Given the description of an element on the screen output the (x, y) to click on. 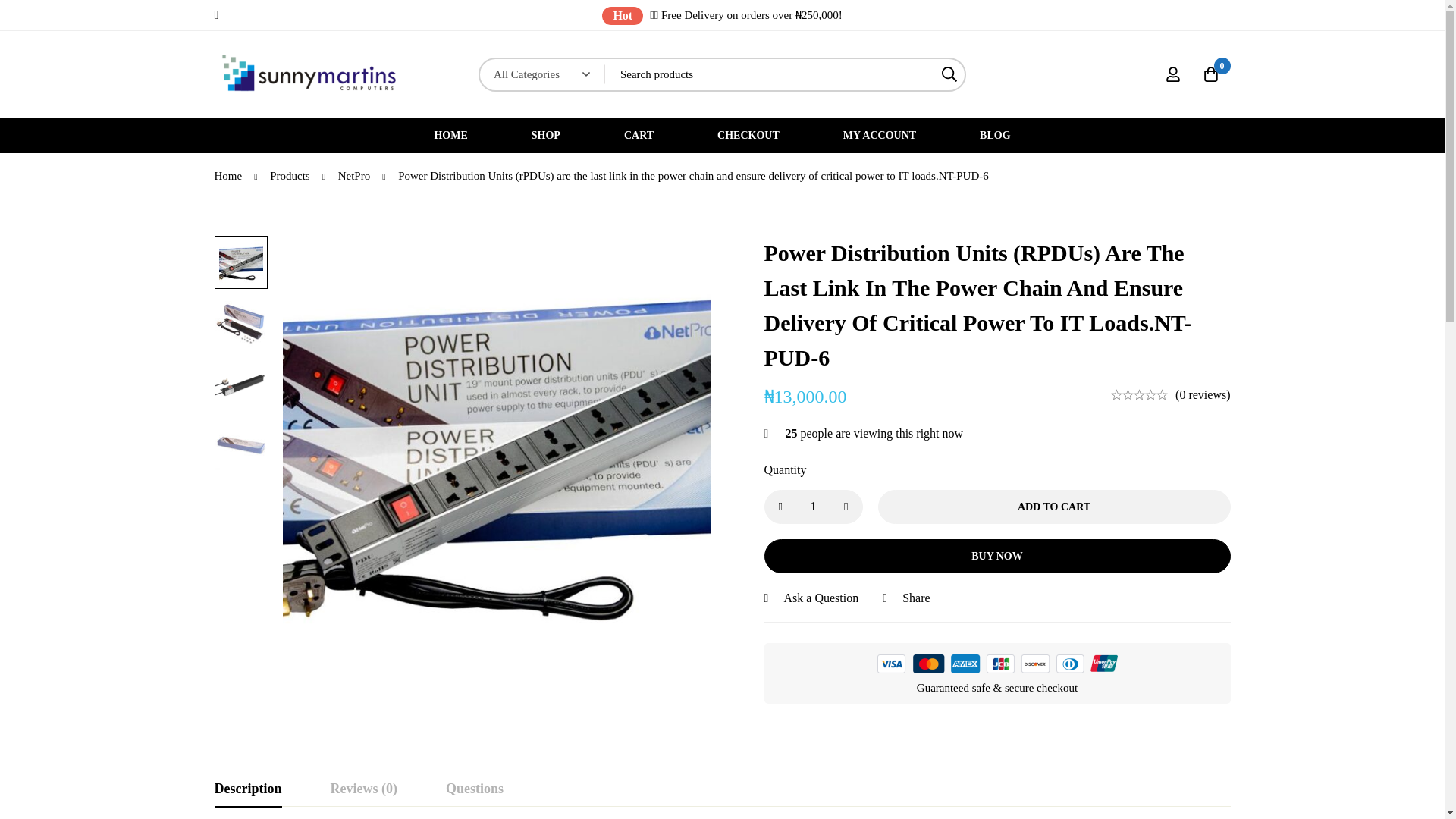
Home (227, 175)
Search for: (785, 74)
Products (289, 175)
BLOG (995, 135)
CHECKOUT (748, 135)
Qty (813, 506)
1 (813, 506)
CART (639, 135)
MY ACCOUNT (879, 135)
SHOP (545, 135)
